Given the description of an element on the screen output the (x, y) to click on. 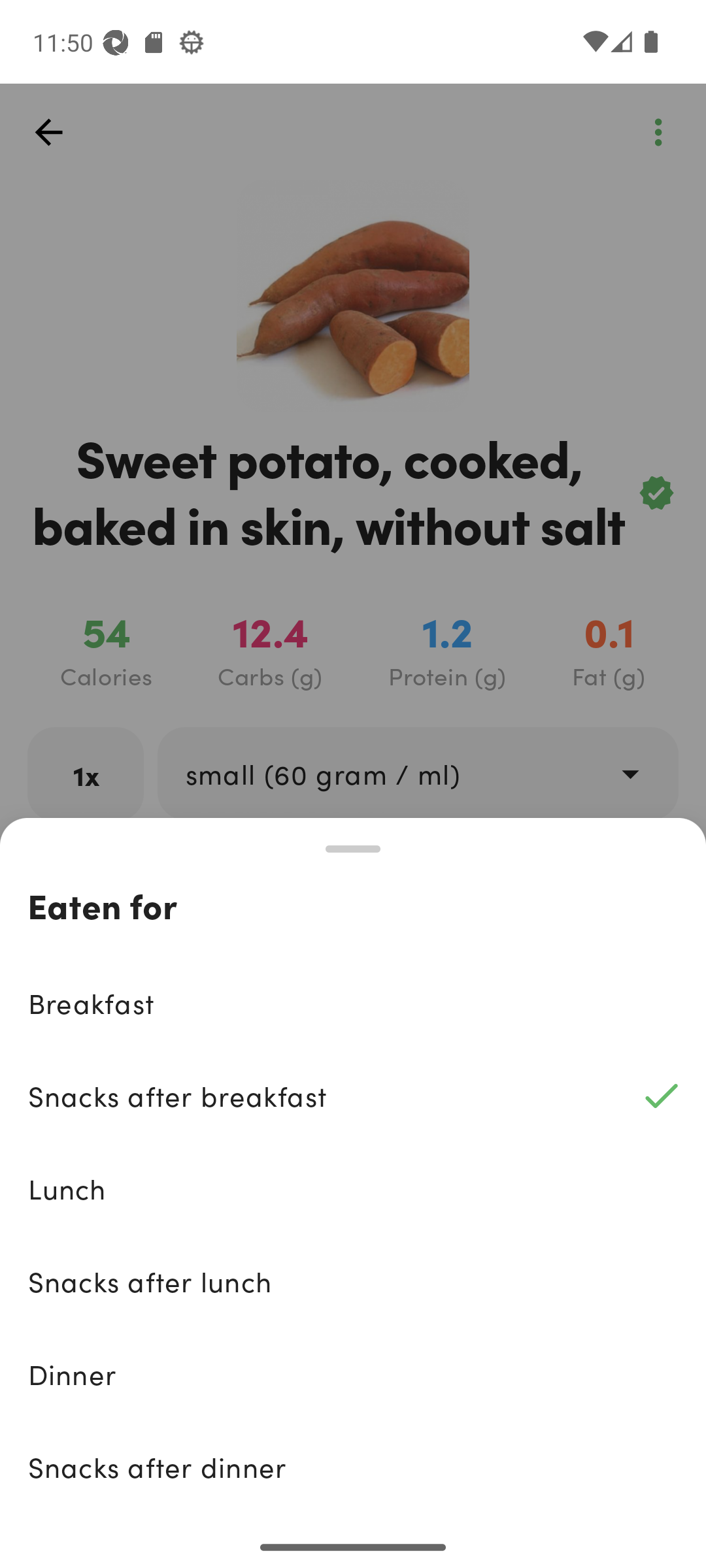
bottom_sheet_option Lunch bottom_sheet_option_text (353, 1188)
